Given the description of an element on the screen output the (x, y) to click on. 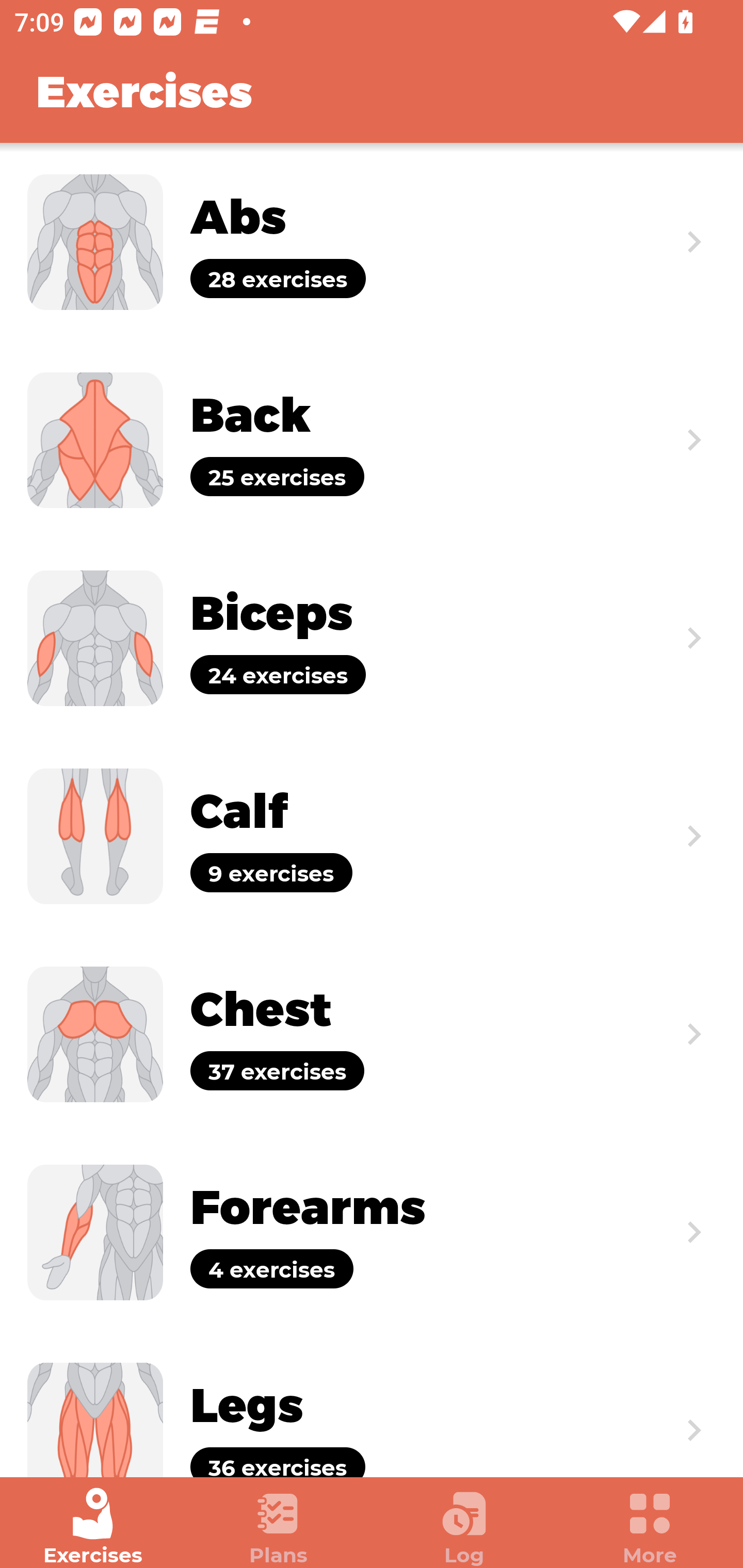
Exercise Abs 28 exercises (371, 241)
Exercise Back 25 exercises (371, 439)
Exercise Biceps 24 exercises (371, 637)
Exercise Calf 9 exercises (371, 836)
Exercise Chest 37 exercises (371, 1033)
Exercise Forearms 4 exercises (371, 1232)
Exercise Legs 36 exercises (371, 1404)
Exercises (92, 1527)
Plans (278, 1527)
Log (464, 1527)
More (650, 1527)
